Given the description of an element on the screen output the (x, y) to click on. 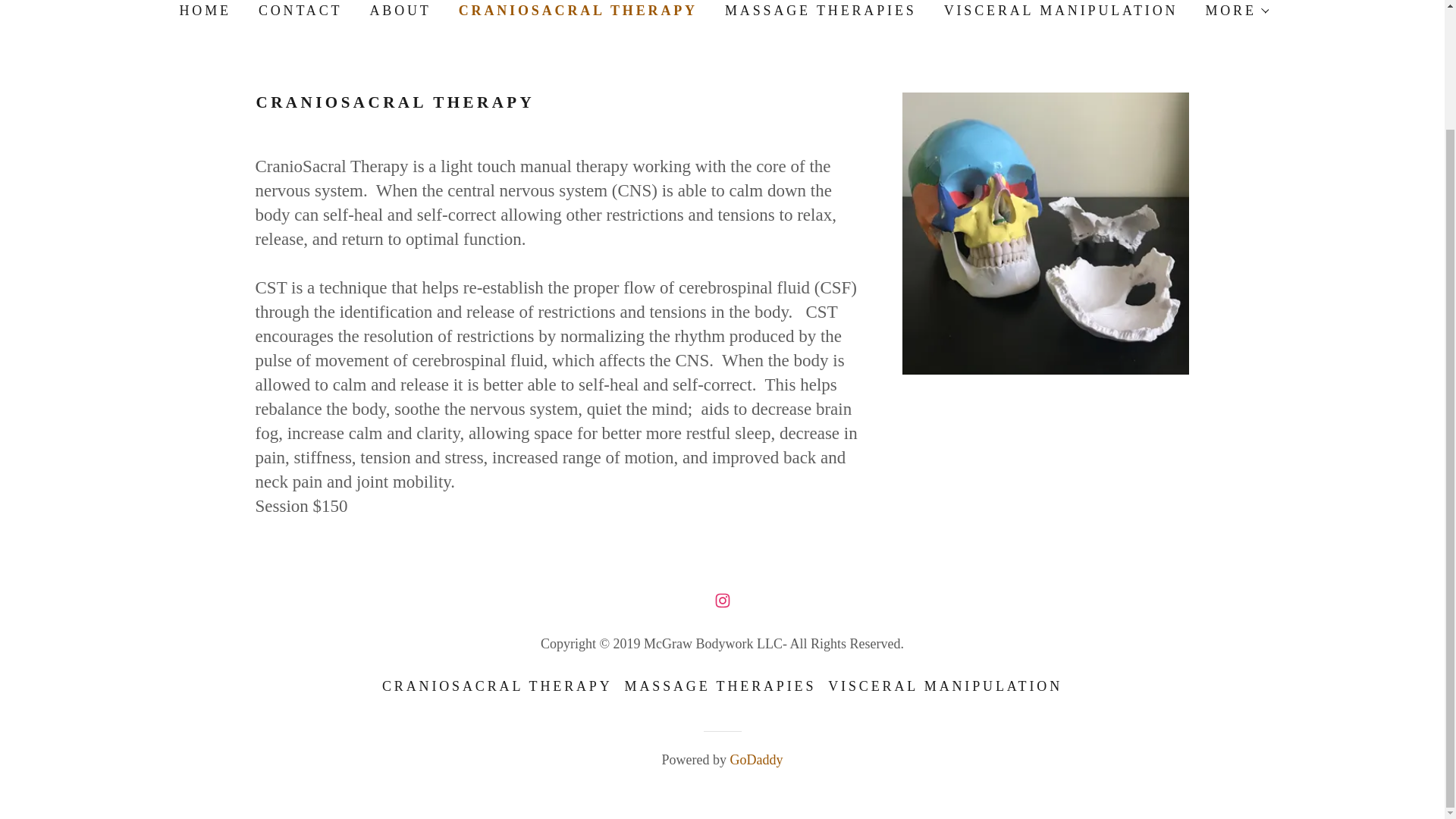
HOME (202, 12)
VISCERAL MANIPULATION (1059, 12)
ABOUT (398, 12)
MASSAGE THERAPIES (720, 686)
GoDaddy (756, 759)
MORE (1236, 10)
MASSAGE THERAPIES (819, 12)
CONTACT (298, 12)
VISCERAL MANIPULATION (945, 686)
CRANIOSACRAL THERAPY (496, 686)
